Given the description of an element on the screen output the (x, y) to click on. 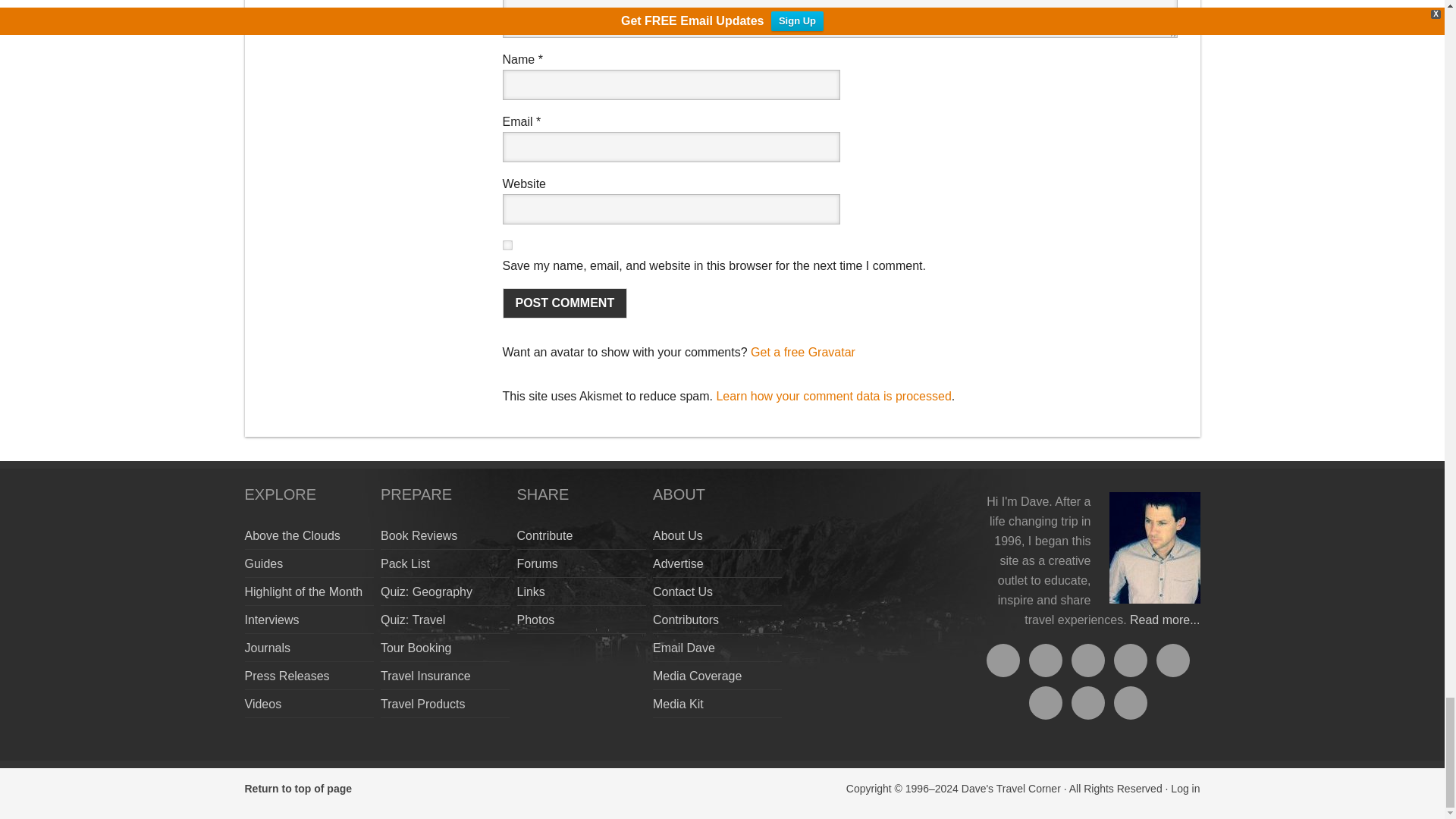
yes (507, 245)
Post Comment (564, 303)
